Given the description of an element on the screen output the (x, y) to click on. 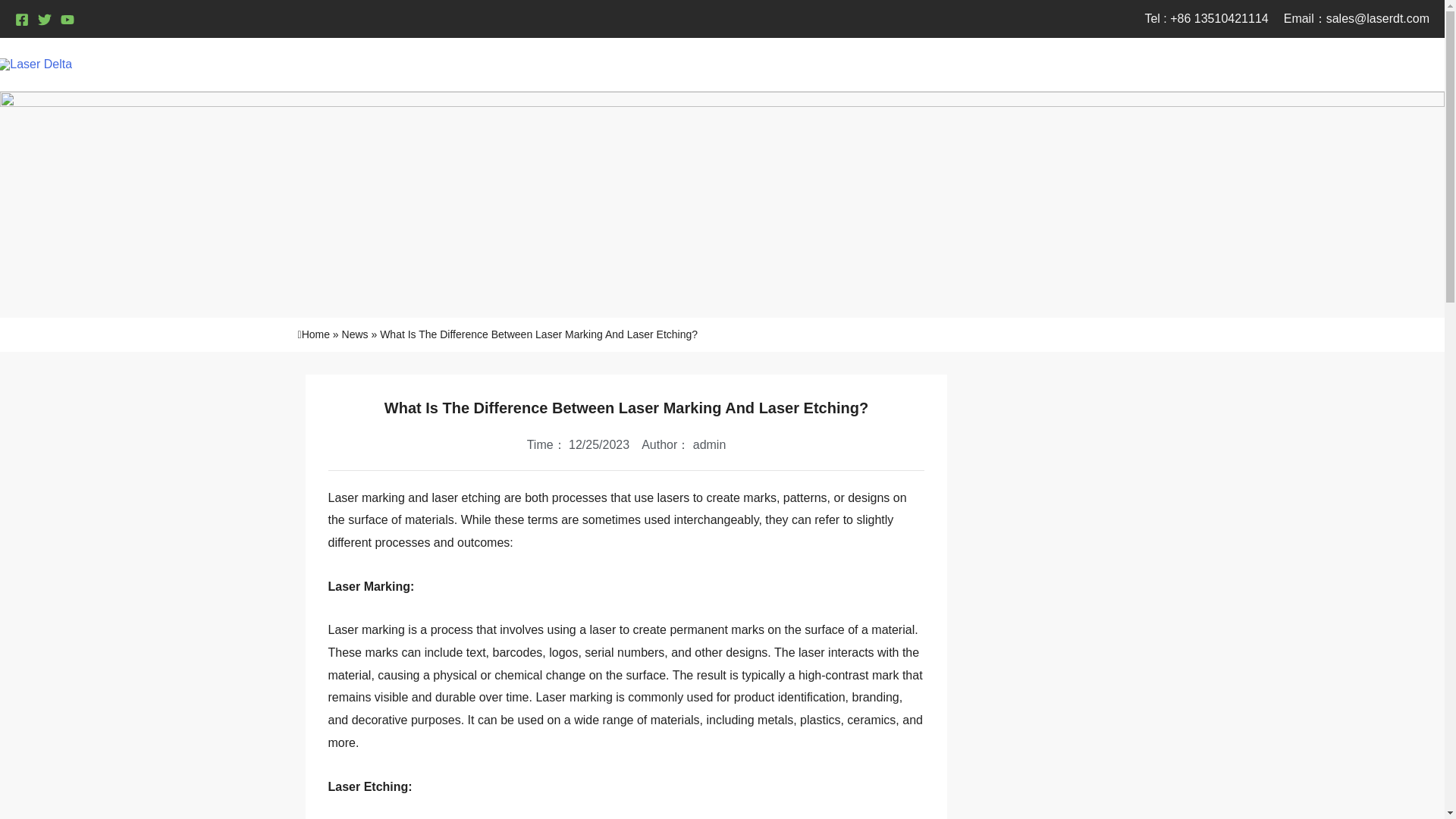
Products (1073, 63)
VR (1404, 63)
Contact Us (1329, 63)
About Us (1168, 63)
Home (987, 63)
News (1245, 63)
